Given the description of an element on the screen output the (x, y) to click on. 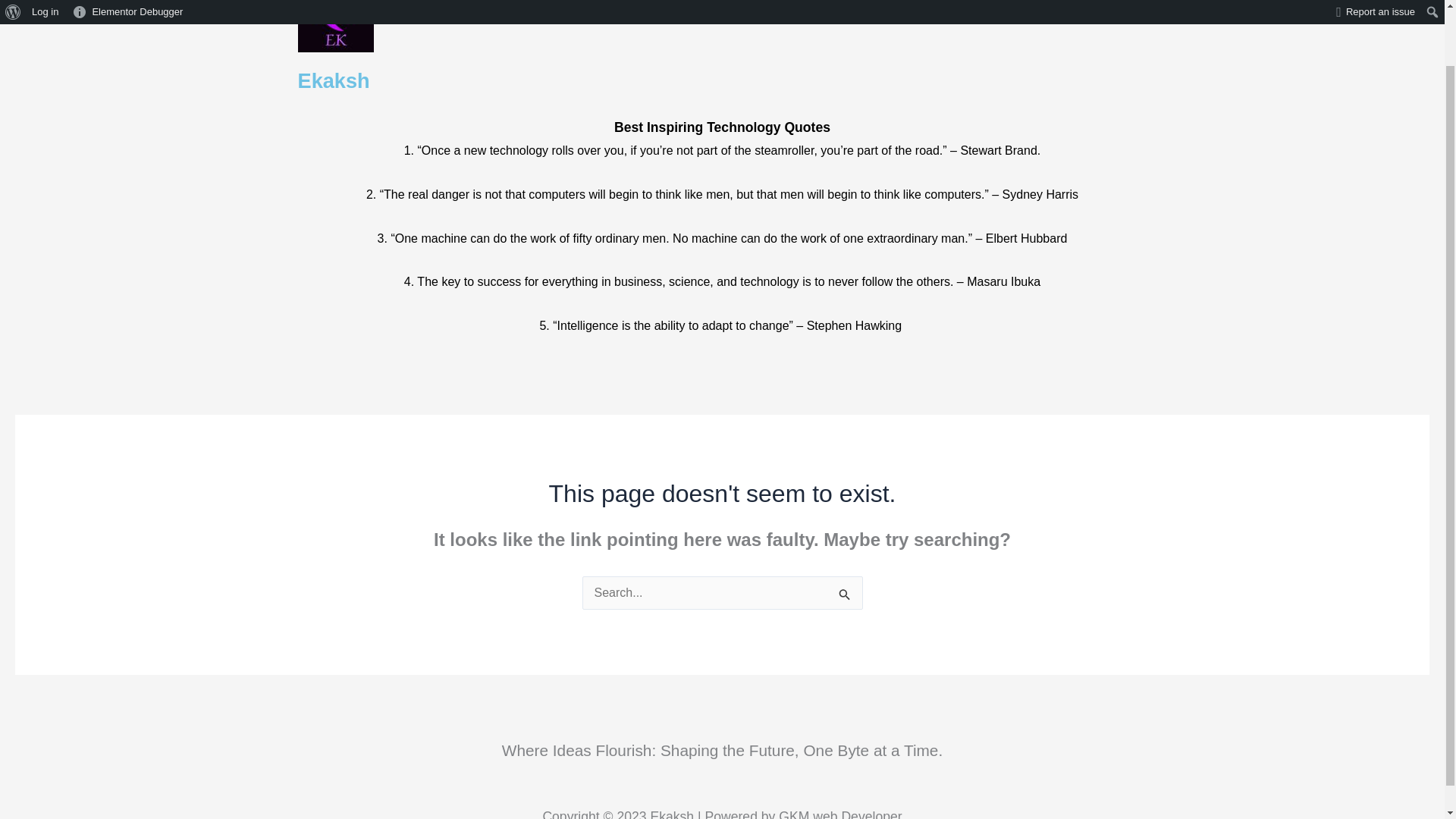
Search (1091, 7)
Deep into Thoughts (679, 5)
Ekaksh (333, 80)
HOME (573, 5)
My Blog (789, 5)
Contact Us (875, 5)
